Given the description of an element on the screen output the (x, y) to click on. 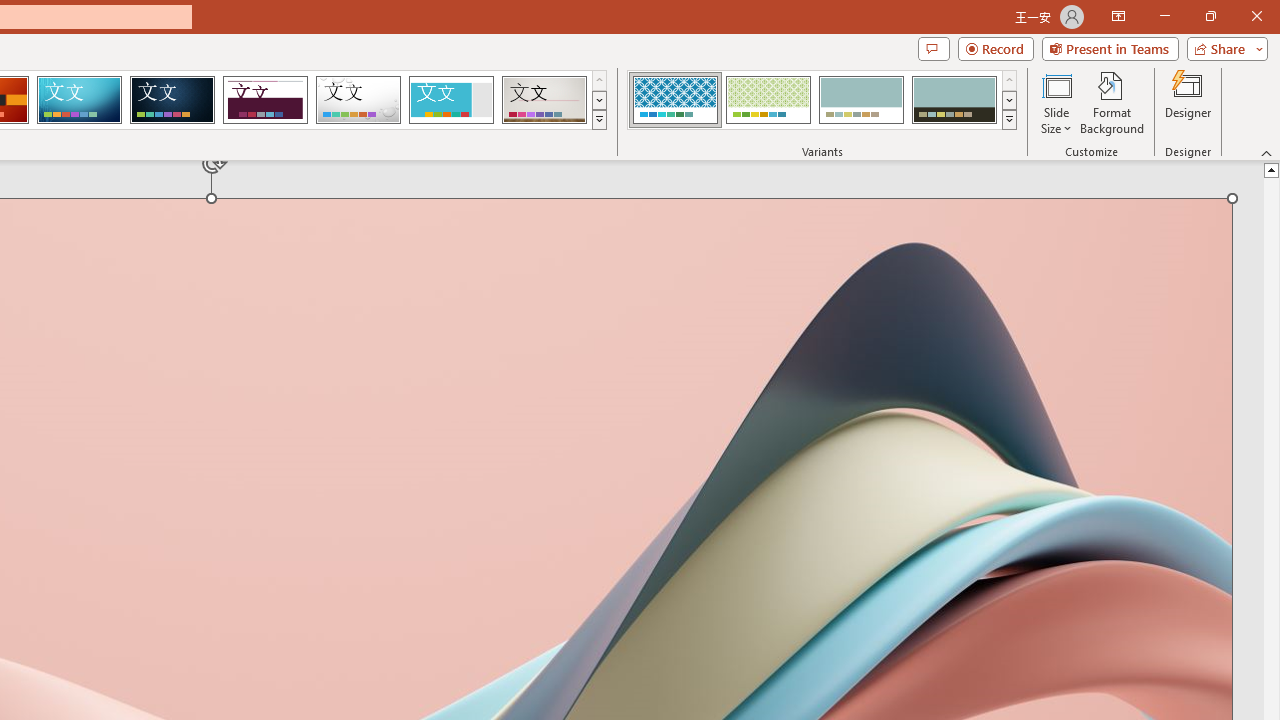
Slide Size (1056, 102)
Damask (171, 100)
Gallery (544, 100)
Line up (1271, 169)
Dividend (265, 100)
Integral Variant 2 (768, 100)
Integral Variant 3 (861, 100)
Designer (1188, 102)
AutomationID: ThemeVariantsGallery (822, 99)
Themes (598, 120)
